Given the description of an element on the screen output the (x, y) to click on. 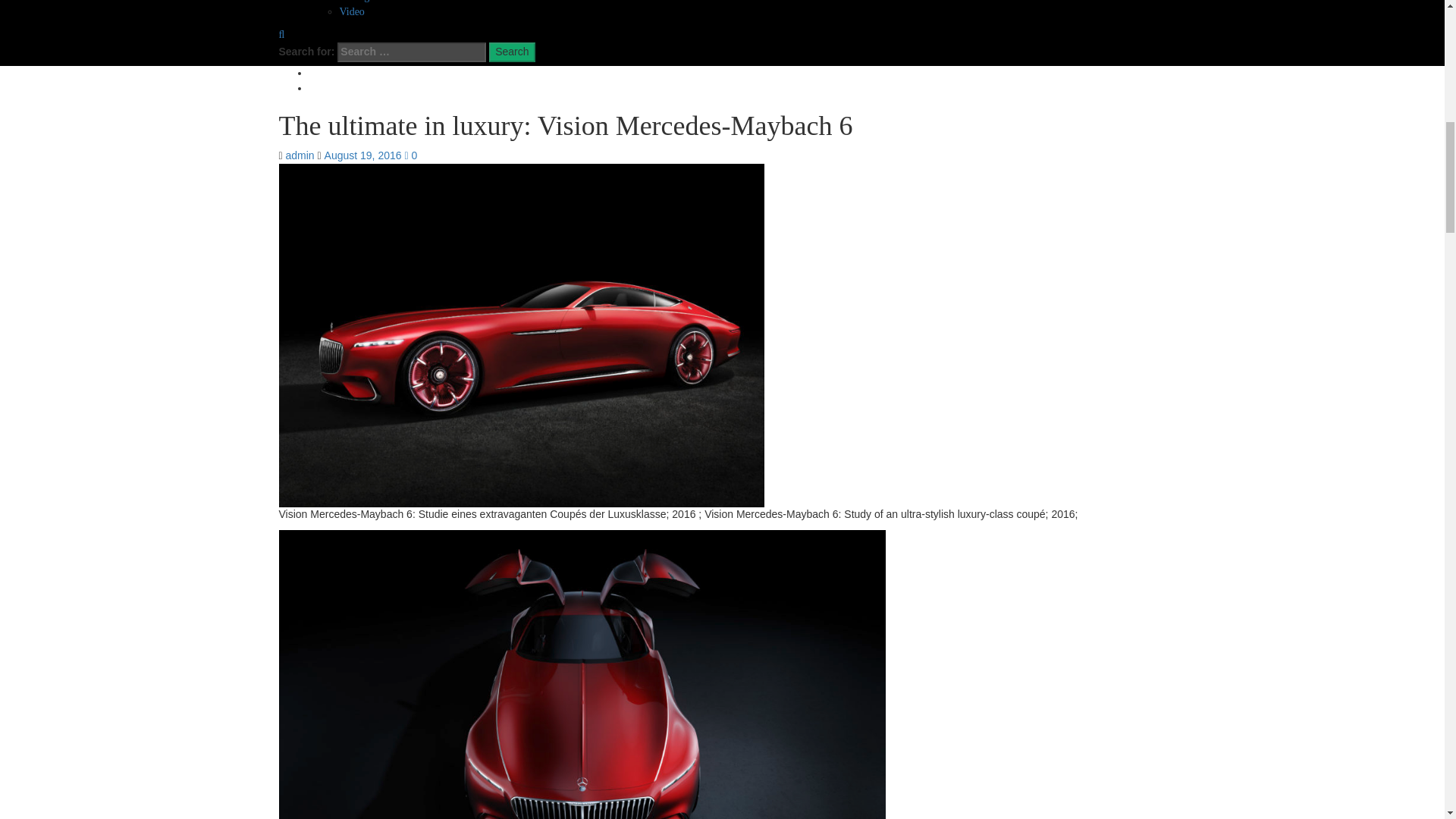
admin (301, 155)
Racing (354, 1)
Video (352, 11)
Search (511, 52)
August 19, 2016 (364, 155)
Search (511, 52)
Search (511, 52)
0 (410, 155)
